Given the description of an element on the screen output the (x, y) to click on. 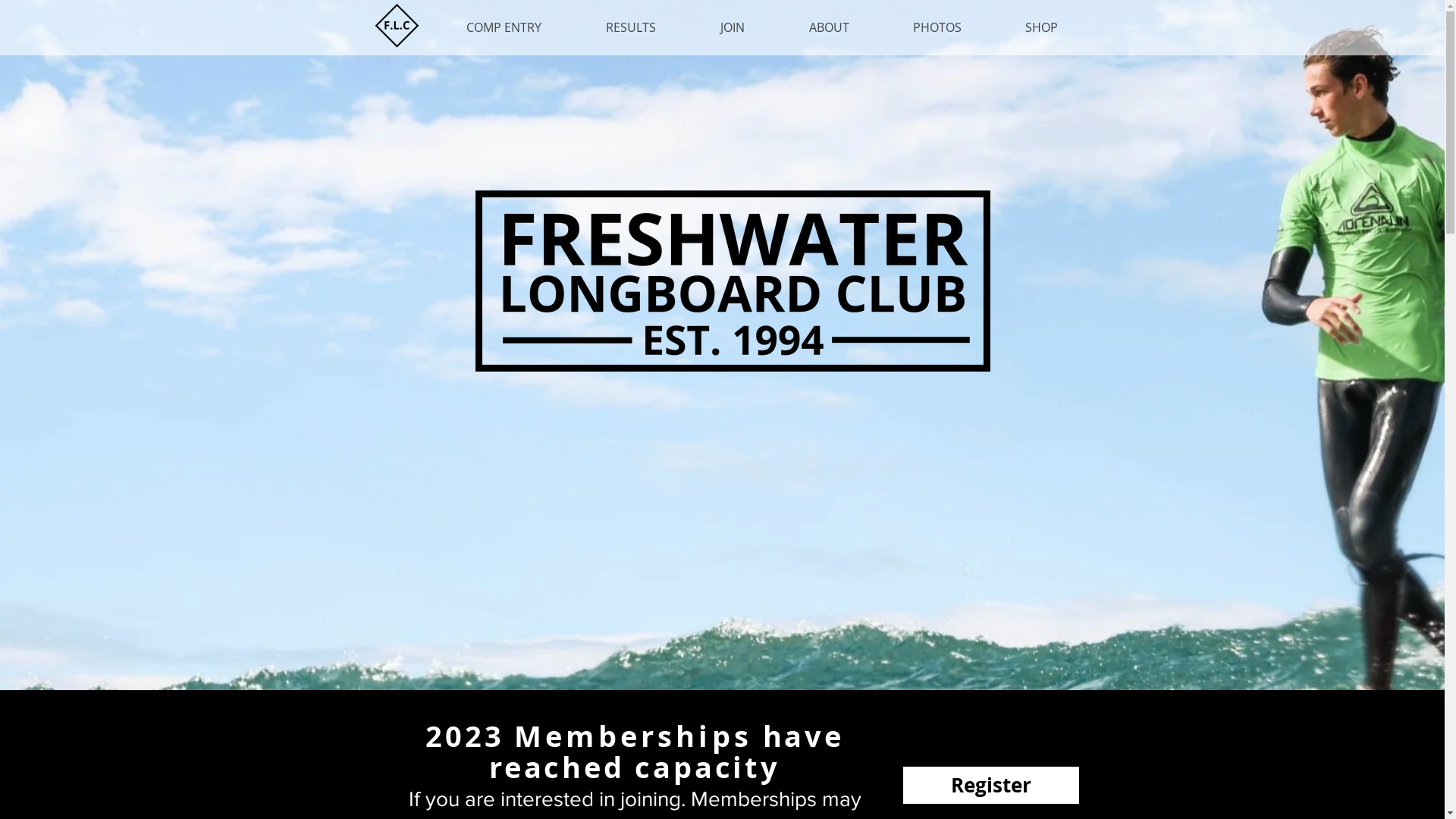
SHOP Element type: text (1041, 27)
PHOTOS Element type: text (937, 27)
RESULTS Element type: text (630, 27)
COMP ENTRY Element type: text (503, 27)
JOIN Element type: text (732, 27)
ABOUT Element type: text (828, 27)
Register Element type: text (990, 784)
